Given the description of an element on the screen output the (x, y) to click on. 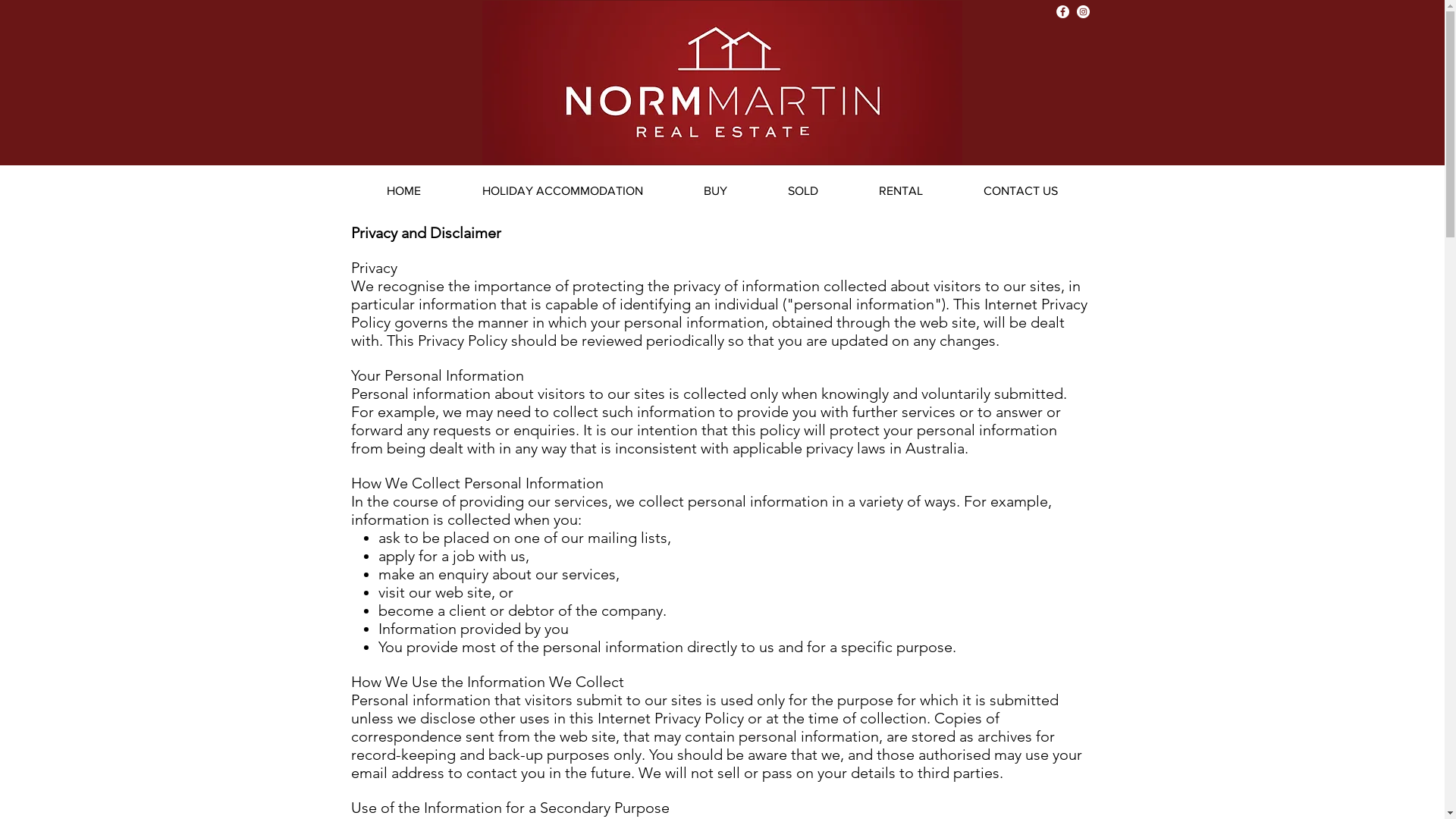
HOME Element type: text (403, 190)
HOLIDAY ACCOMMODATION Element type: text (562, 190)
BUY Element type: text (715, 190)
RENTAL Element type: text (899, 190)
SOLD Element type: text (801, 190)
CONTACT US Element type: text (1019, 190)
